Given the description of an element on the screen output the (x, y) to click on. 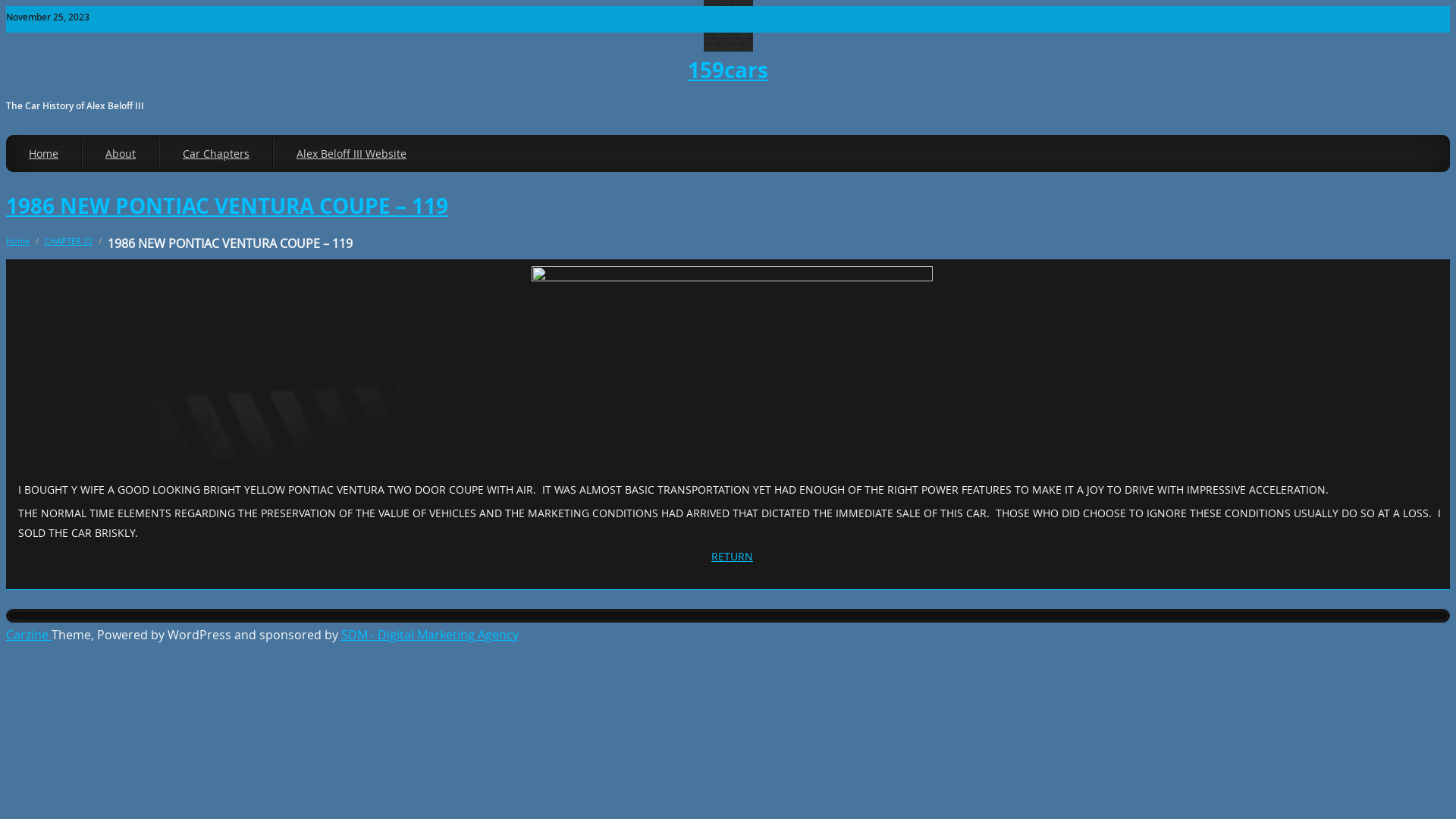
Car Chapters Element type: text (216, 153)
SDM - Digital Marketing Agency Element type: text (429, 634)
Home Element type: text (43, 153)
About Element type: text (120, 153)
RETURN Element type: text (732, 556)
Carzine Element type: text (28, 634)
Home Element type: text (17, 240)
Alex Beloff III Website Element type: text (351, 153)
159cars Element type: text (727, 69)
CHAPTER 22 Element type: text (68, 240)
